Given the description of an element on the screen output the (x, y) to click on. 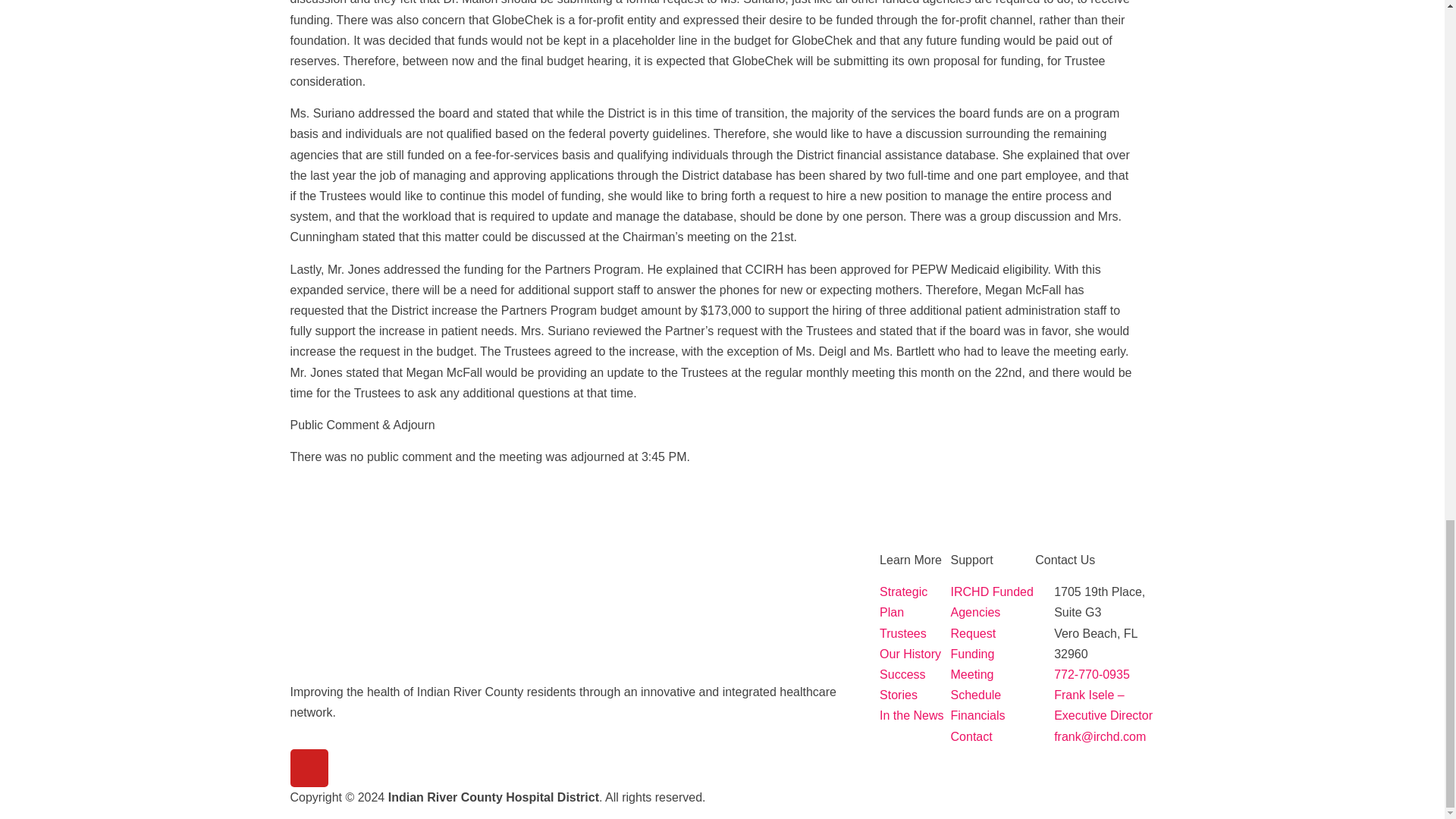
Our History (914, 653)
Request Funding (992, 643)
Trustees (914, 633)
IRCHD Funded Agencies (992, 601)
772-770-0935 (1094, 674)
Meeting Schedule (992, 684)
Financials (992, 715)
Contact (992, 736)
Strategic Plan (914, 601)
Success Stories (914, 684)
In the News (914, 715)
